Given the description of an element on the screen output the (x, y) to click on. 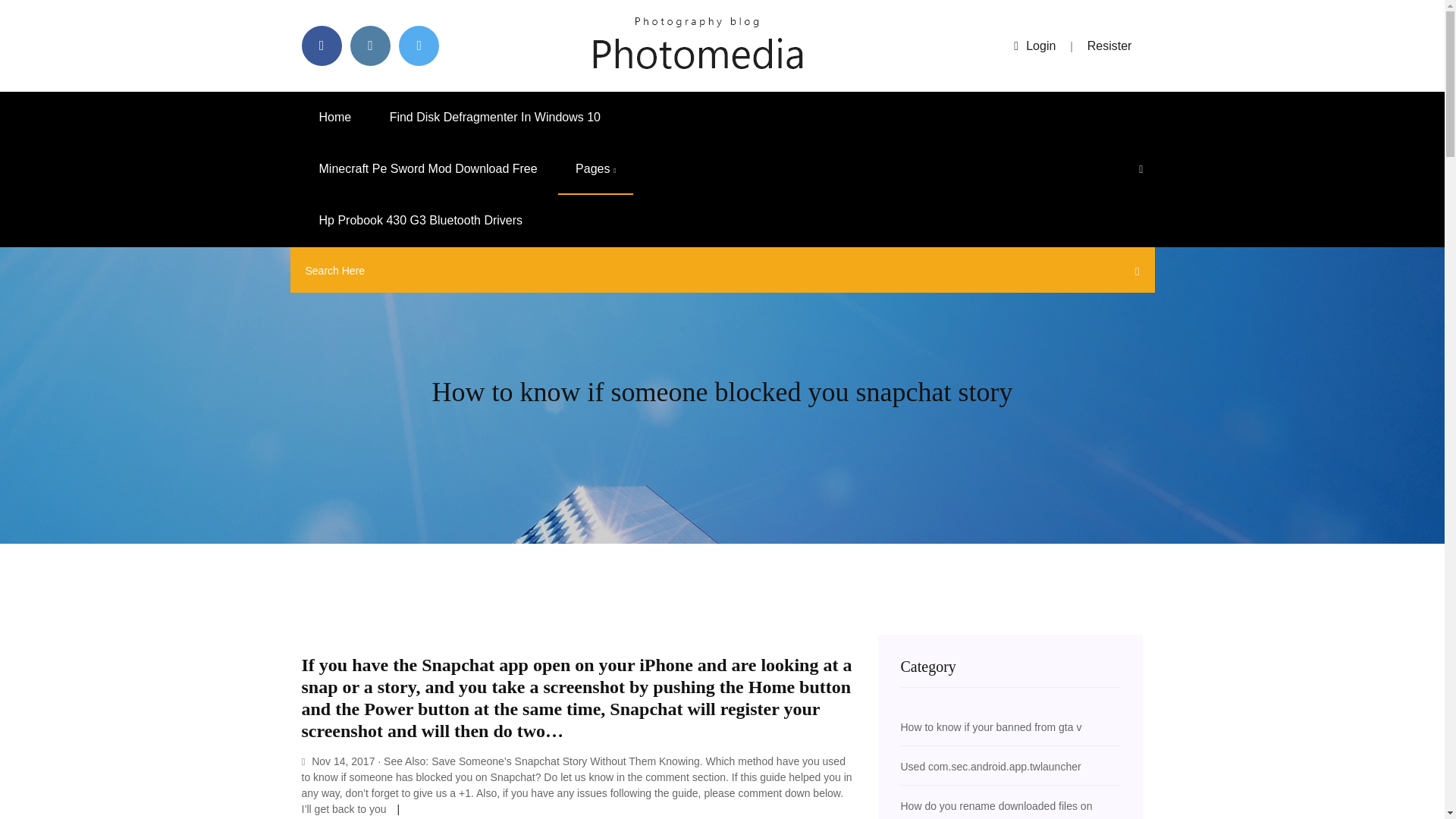
Minecraft Pe Sword Mod Download Free (427, 168)
Pages (595, 168)
Resister (1109, 45)
Home (335, 117)
Find Disk Defragmenter In Windows 10 (494, 117)
Login (1034, 45)
Hp Probook 430 G3 Bluetooth Drivers (420, 220)
